Given the description of an element on the screen output the (x, y) to click on. 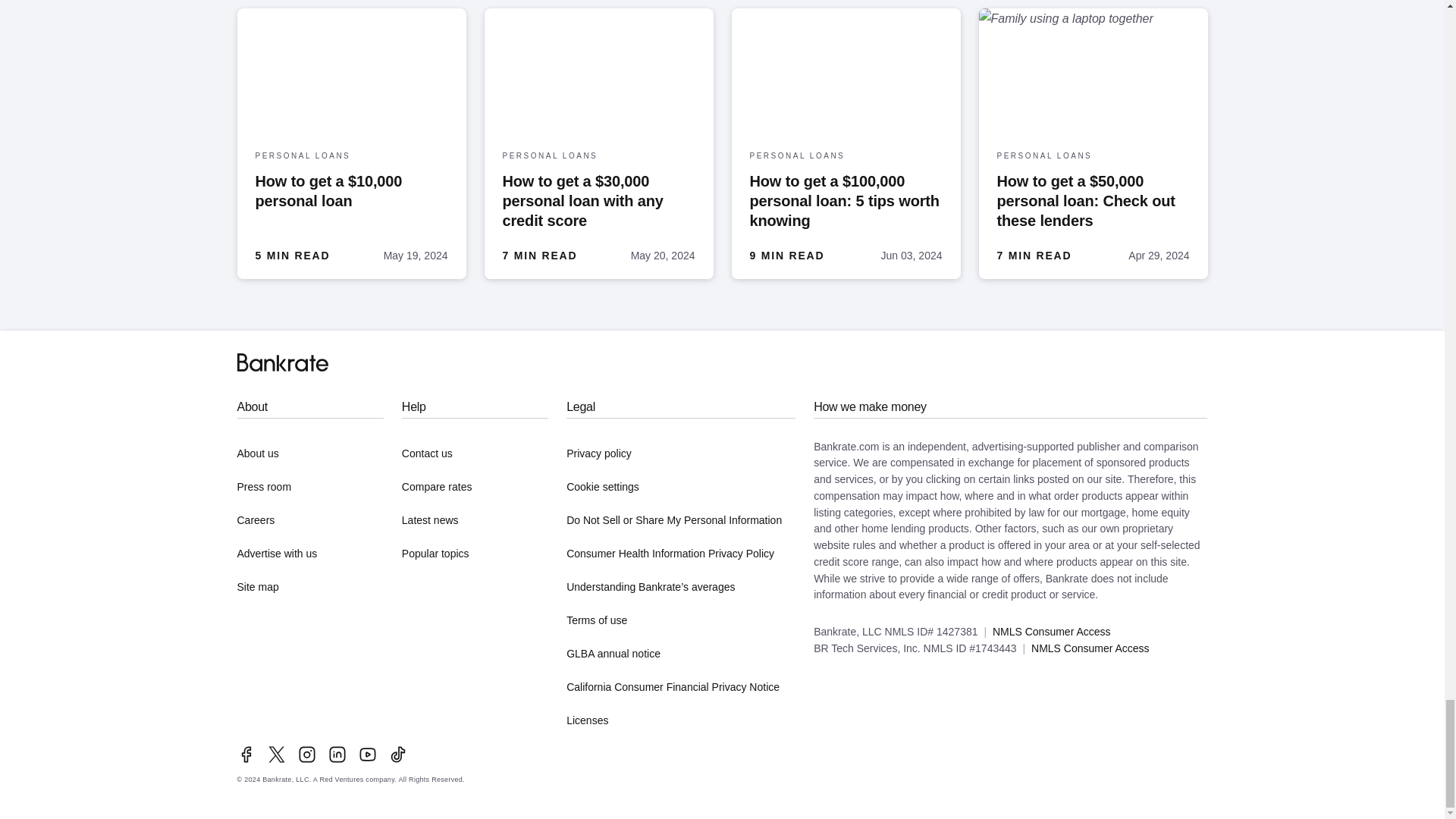
Facebook logo (244, 754)
Twitter logo (275, 754)
TikTok logo (397, 754)
Instagram logo (306, 754)
LinkedIn logo (336, 754)
Bankrate (281, 361)
YouTube logo (366, 754)
